Given the description of an element on the screen output the (x, y) to click on. 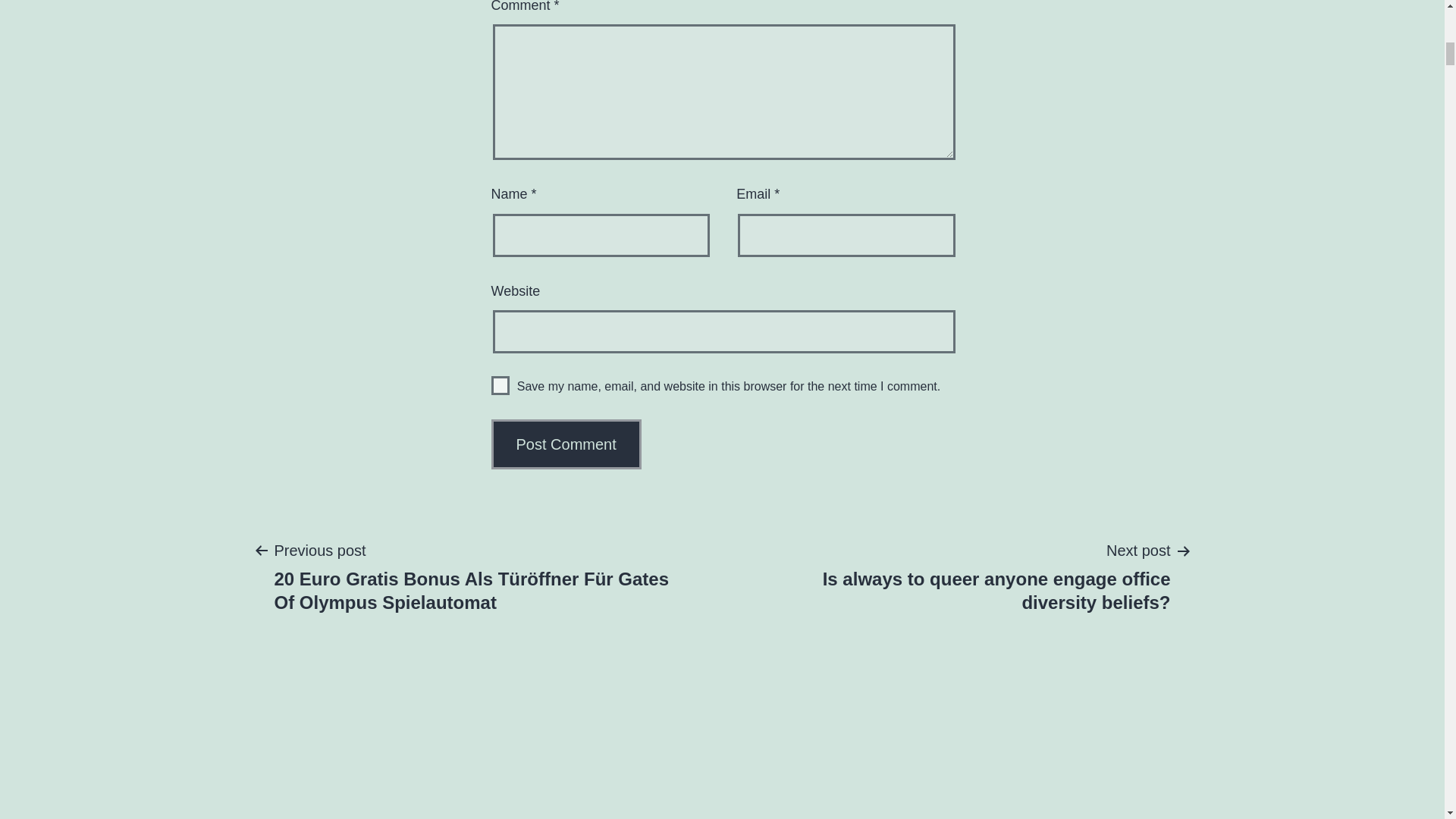
yes (500, 384)
Post Comment (567, 444)
Post Comment (567, 444)
